Given the description of an element on the screen output the (x, y) to click on. 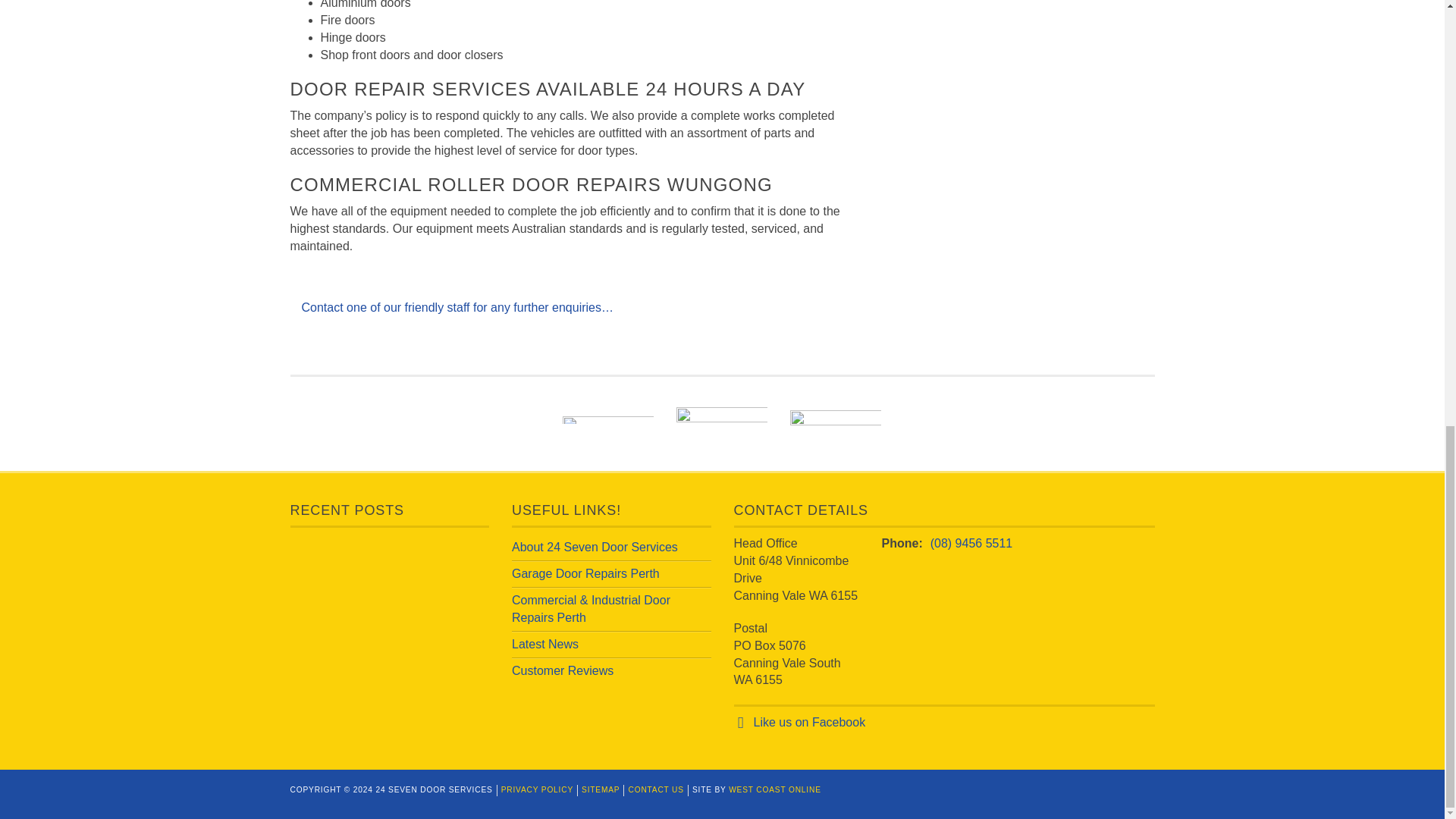
Like us on Facebook (810, 721)
Latest News (545, 644)
WEST COAST ONLINE (775, 789)
CONTACT US (654, 789)
SITEMAP (600, 789)
PRIVACY POLICY (536, 789)
About 24 Seven Door Services (595, 546)
Garage Door Repairs Perth (585, 573)
Customer Reviews (562, 670)
